Given the description of an element on the screen output the (x, y) to click on. 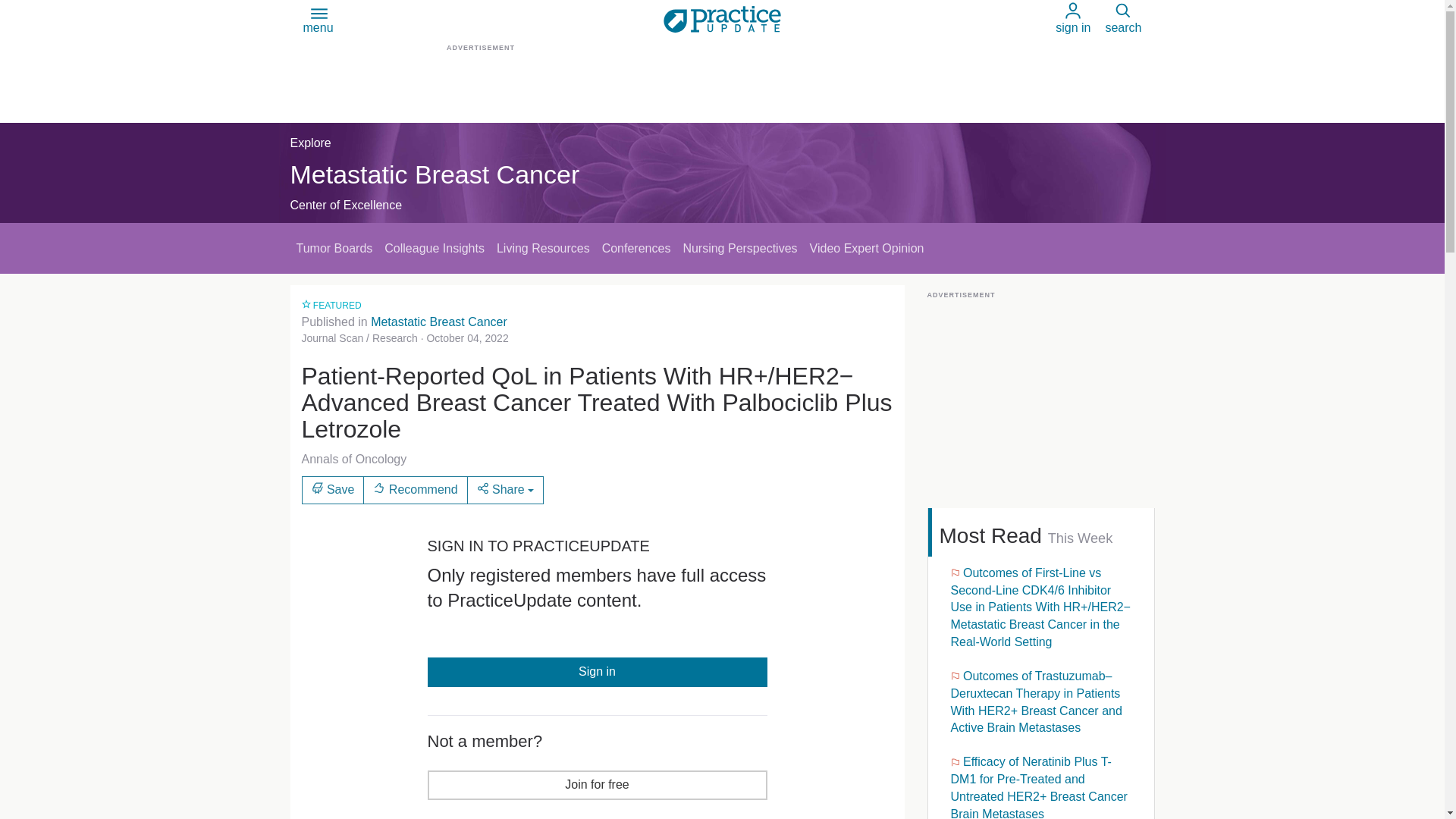
search (1122, 19)
sign in (1073, 19)
Colleague Insights (434, 248)
Conferences (636, 248)
Nursing Perspectives (740, 248)
3rd party ad content (721, 89)
Living Resources (542, 248)
Video Expert Opinion (866, 248)
Tumor Boards (333, 248)
